Given the description of an element on the screen output the (x, y) to click on. 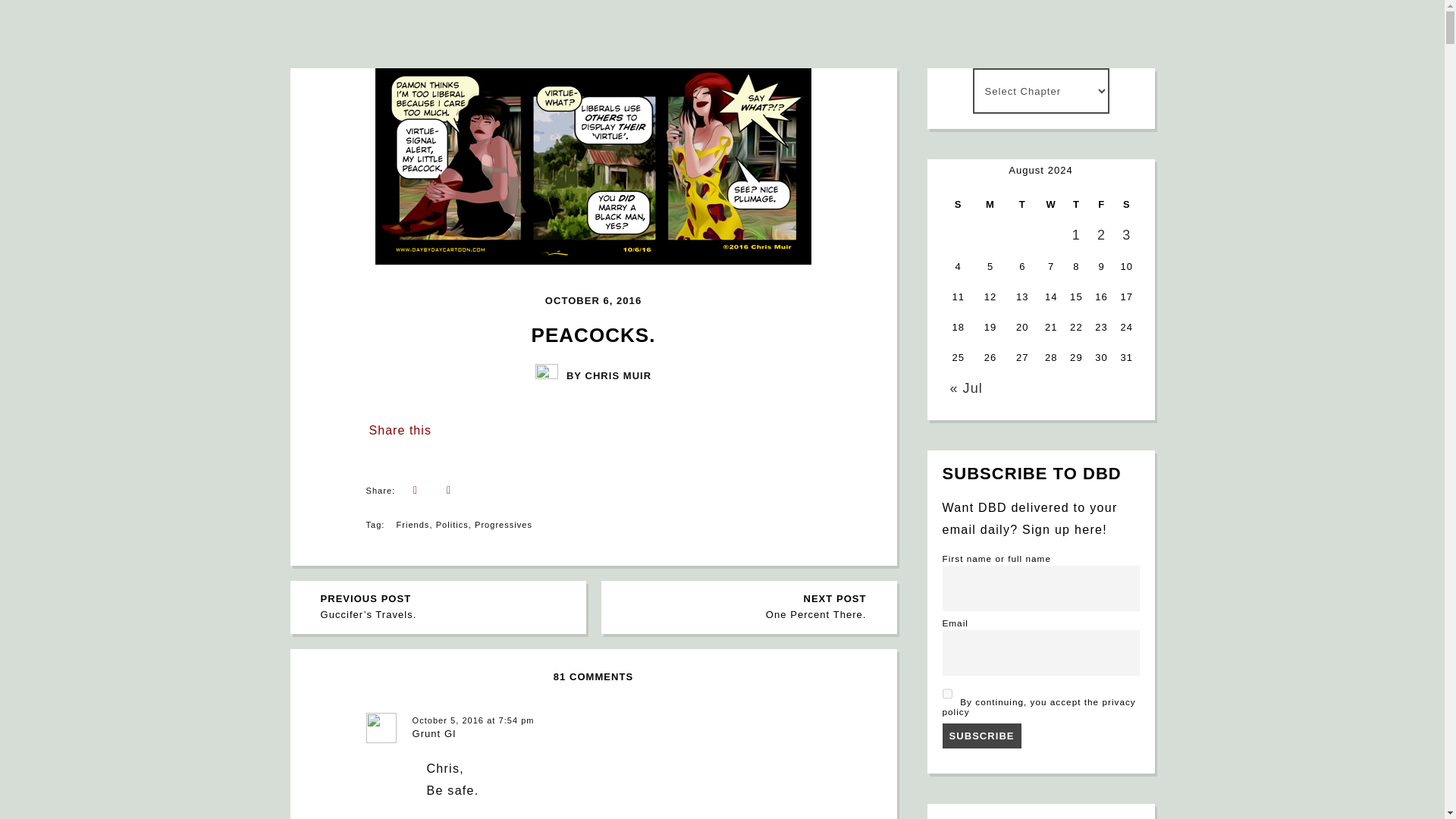
Friends (412, 524)
Tuesday (1022, 204)
BY CHRIS MUIR (592, 374)
Progressives (503, 524)
Share this (399, 430)
Subscribe (981, 735)
Monday (990, 204)
Sunday (958, 204)
View posts for July 2024 (744, 606)
Politics (965, 387)
Subscribe (451, 524)
